Given the description of an element on the screen output the (x, y) to click on. 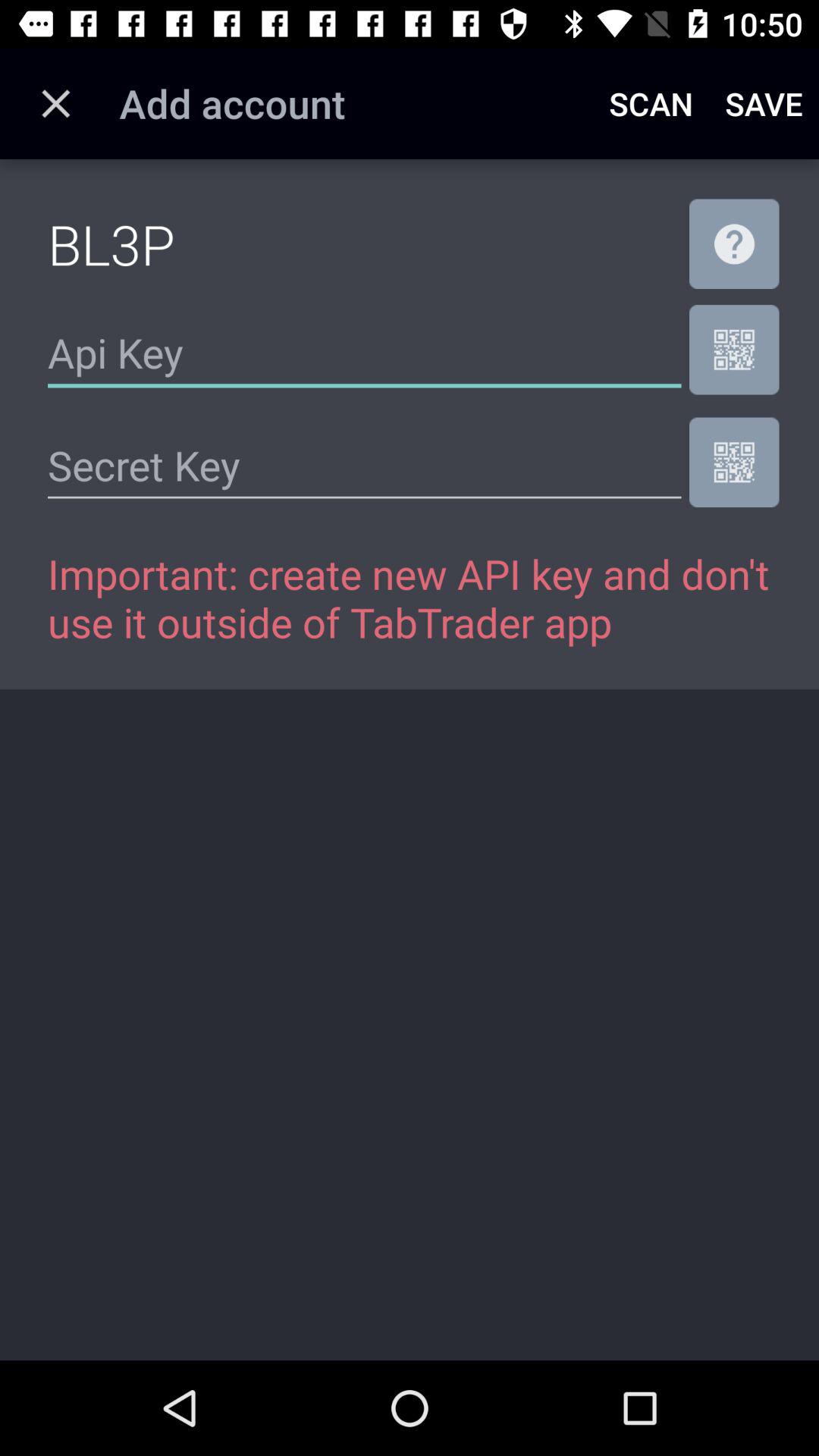
open the item above the bl3p item (55, 103)
